Given the description of an element on the screen output the (x, y) to click on. 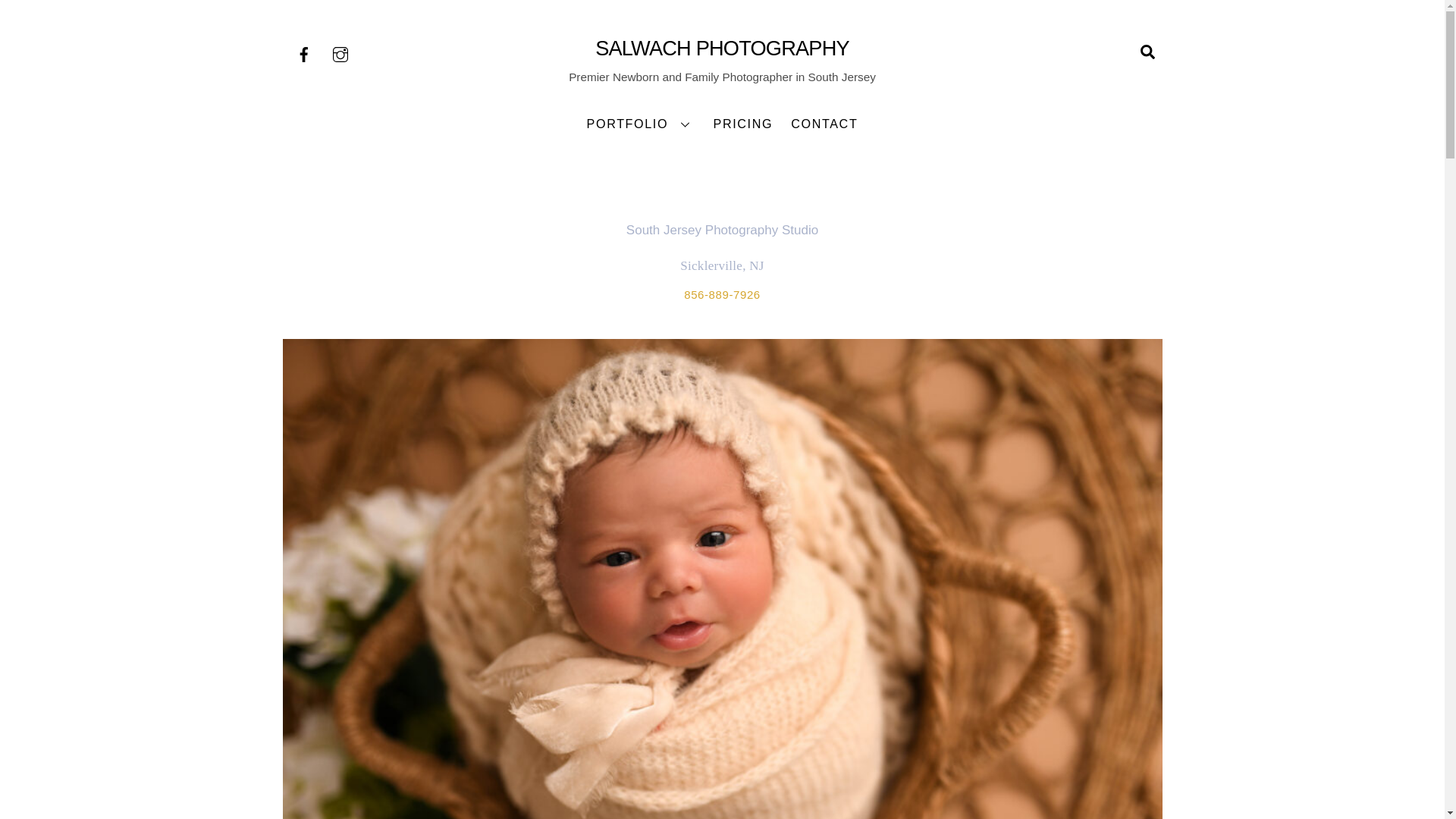
SALWACH PHOTOGRAPHY (721, 47)
856-889-7926 (722, 294)
PRICING (743, 123)
Salwach Photography (721, 123)
PORTFOLIO (721, 47)
Search (640, 123)
CONTACT (1146, 51)
